Given the description of an element on the screen output the (x, y) to click on. 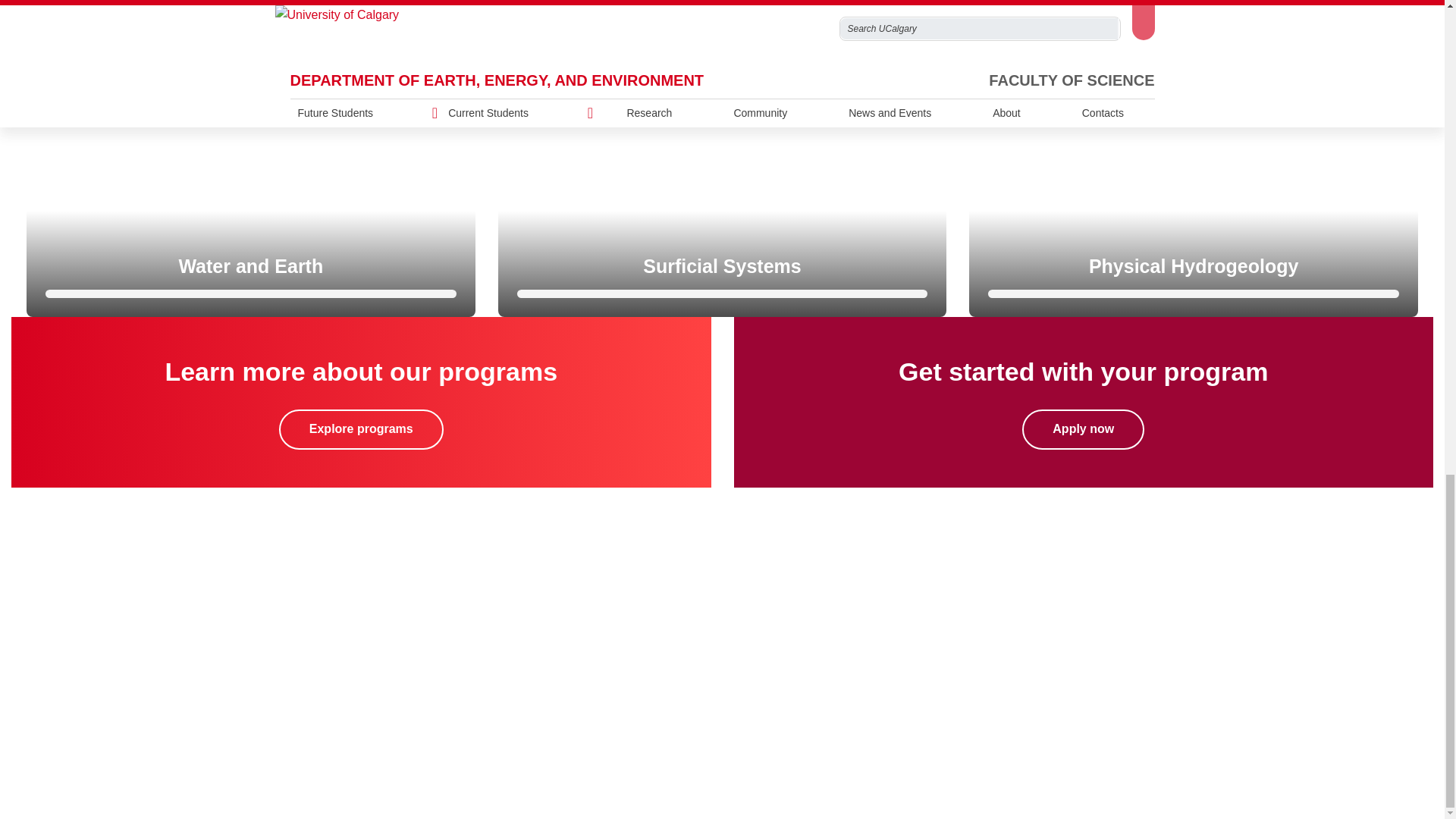
View details - Surficial Systems (722, 172)
View details - Water and Earth (251, 172)
View details - Physical Hydrogeology (1193, 172)
